Given the description of an element on the screen output the (x, y) to click on. 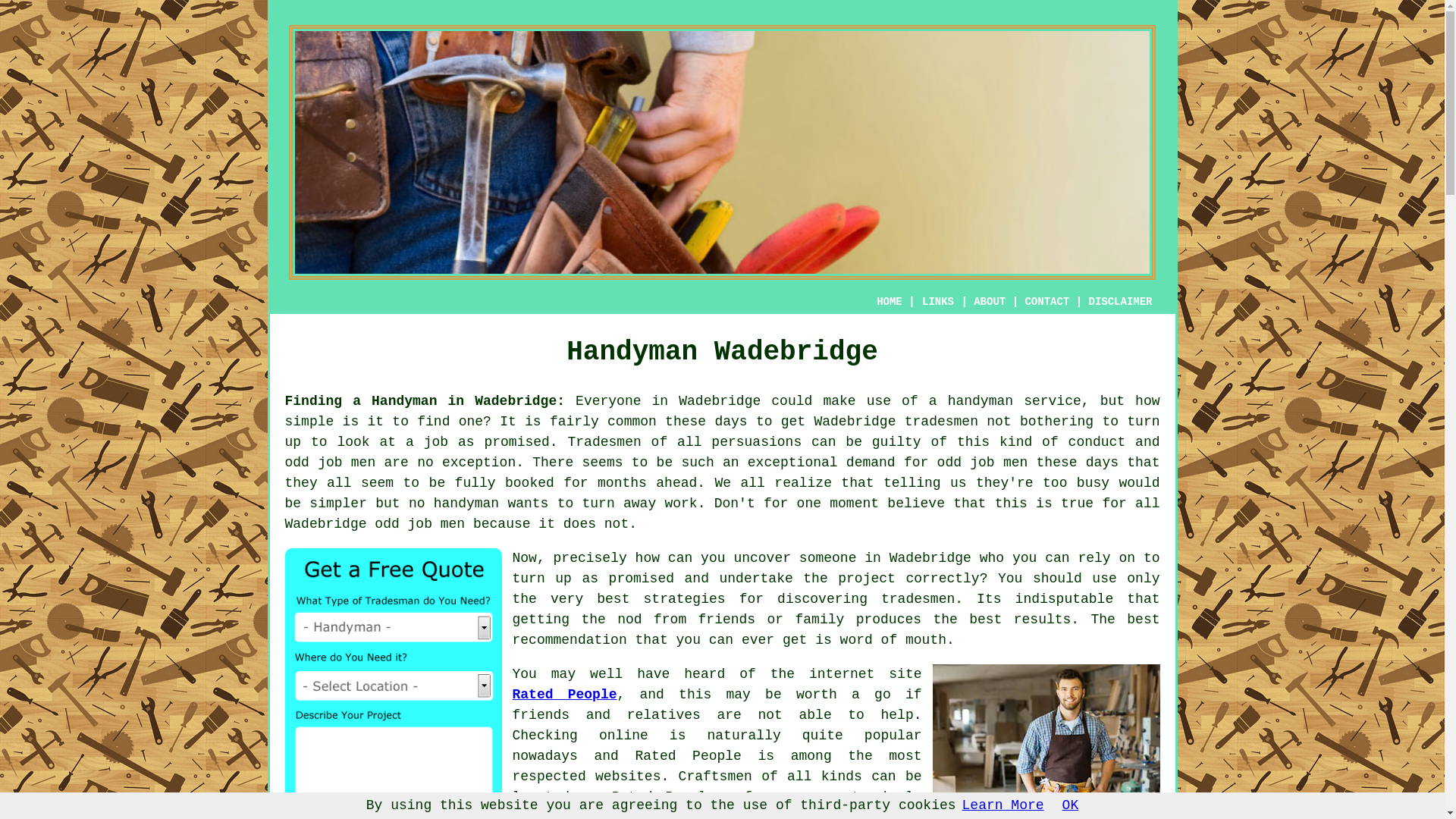
HOME (889, 301)
LINKS (938, 301)
Handyman Wadebridge Cornwall (1046, 739)
